Given the description of an element on the screen output the (x, y) to click on. 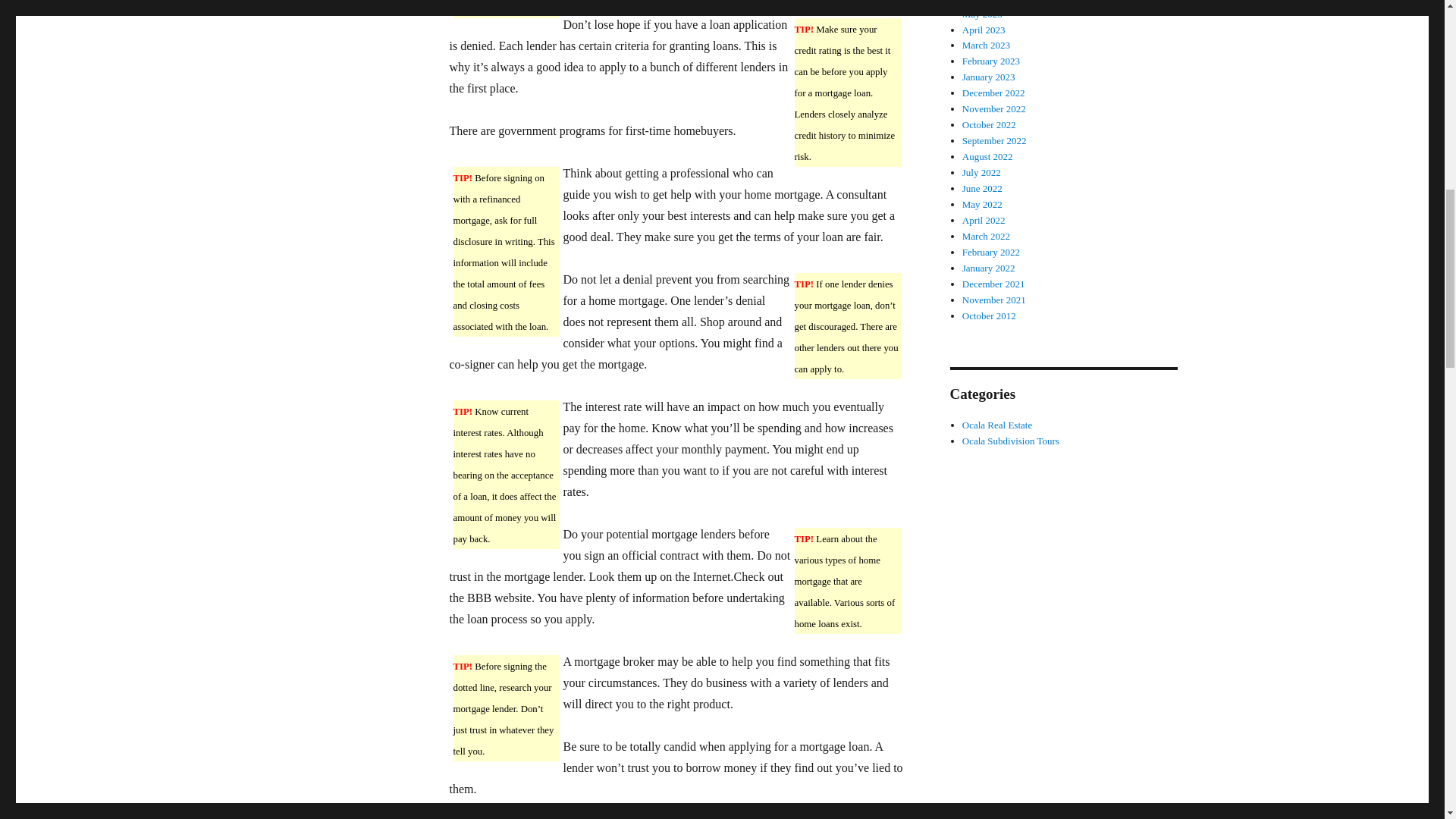
July 2022 (981, 172)
October 2022 (989, 124)
May 2023 (982, 13)
June 2023 (982, 2)
May 2022 (982, 204)
March 2022 (986, 235)
January 2023 (988, 76)
February 2022 (991, 251)
April 2023 (984, 30)
December 2022 (993, 92)
April 2022 (984, 220)
March 2023 (986, 44)
June 2022 (982, 188)
February 2023 (991, 60)
November 2022 (994, 108)
